Given the description of an element on the screen output the (x, y) to click on. 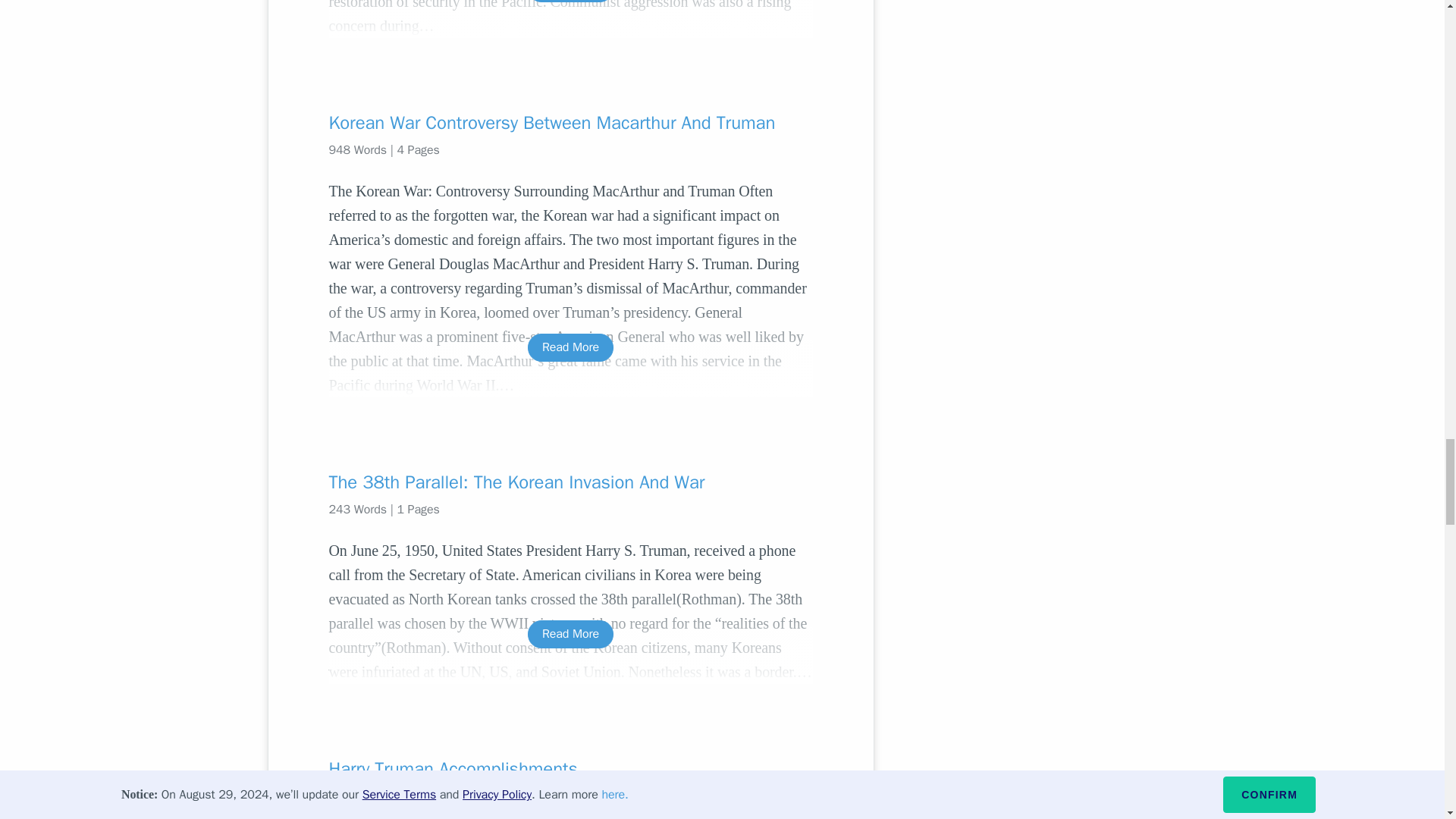
Read More (569, 347)
Korean War Controversy Between Macarthur And Truman (570, 122)
Read More (569, 1)
The 38th Parallel: The Korean Invasion And War (570, 482)
